Given the description of an element on the screen output the (x, y) to click on. 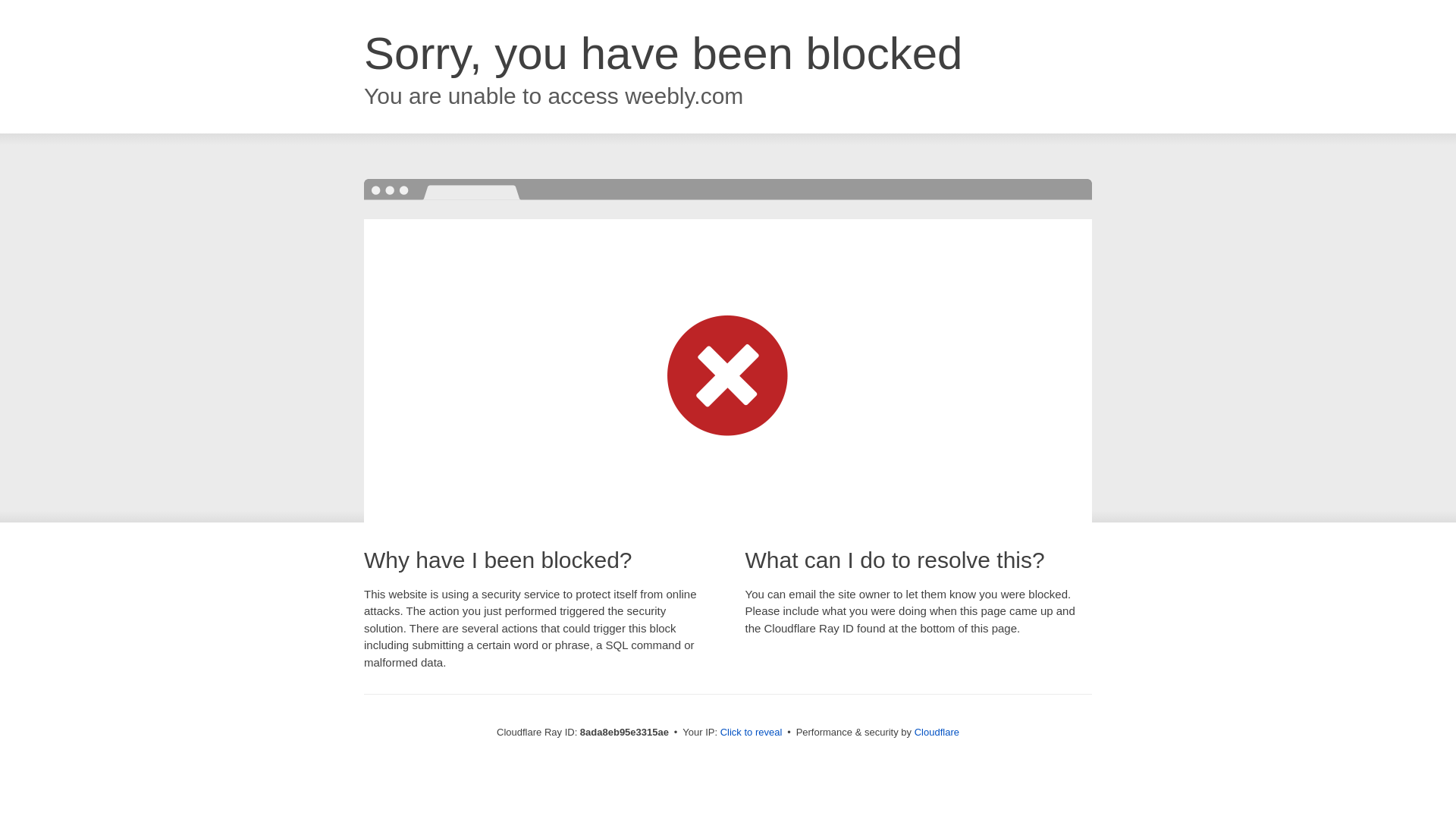
Cloudflare (936, 731)
Click to reveal (751, 732)
